Given the description of an element on the screen output the (x, y) to click on. 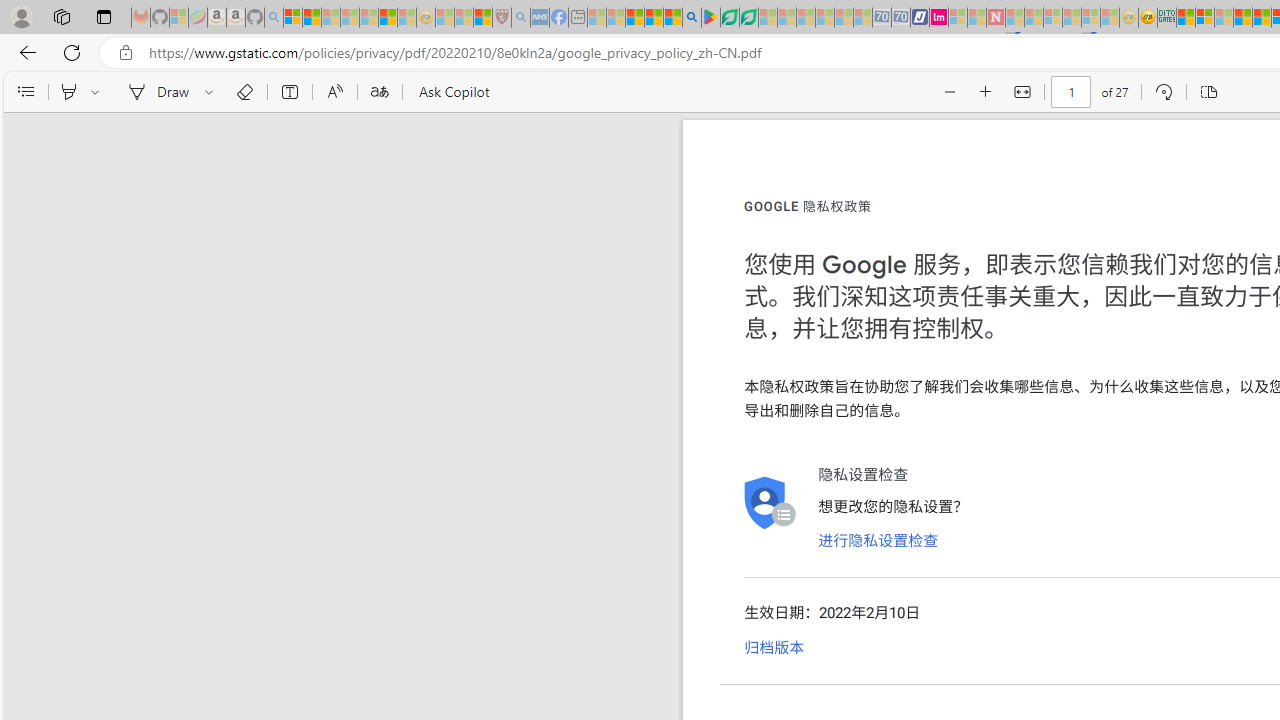
Terms of Use Agreement (729, 17)
Bluey: Let's Play! - Apps on Google Play (710, 17)
Translate (379, 92)
Highlight (68, 92)
Microsoft Word - consumer-privacy address update 2.2021 (748, 17)
Fit to width (Ctrl+\) (1021, 92)
